Given the description of an element on the screen output the (x, y) to click on. 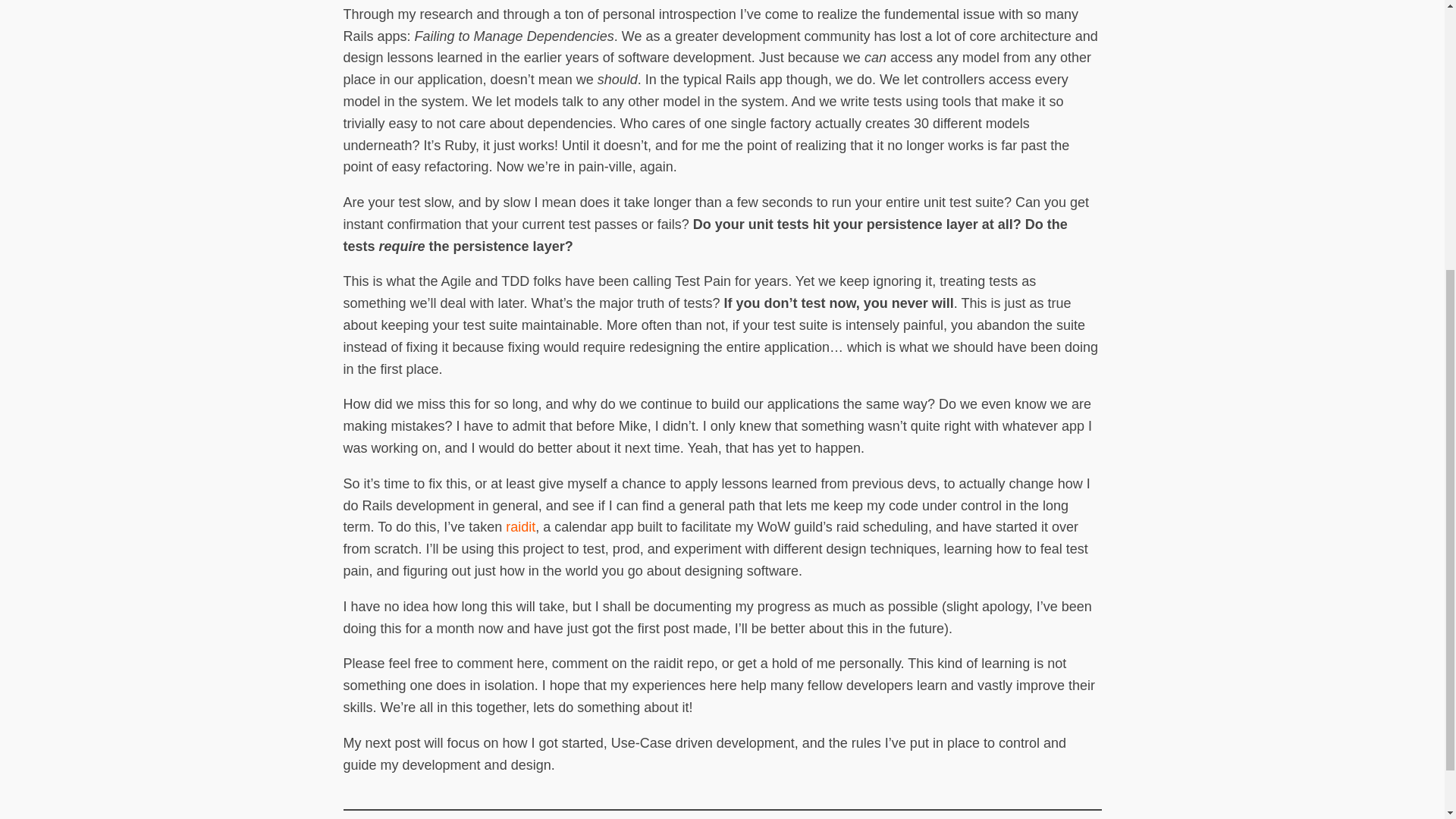
raidit (520, 526)
